Given the description of an element on the screen output the (x, y) to click on. 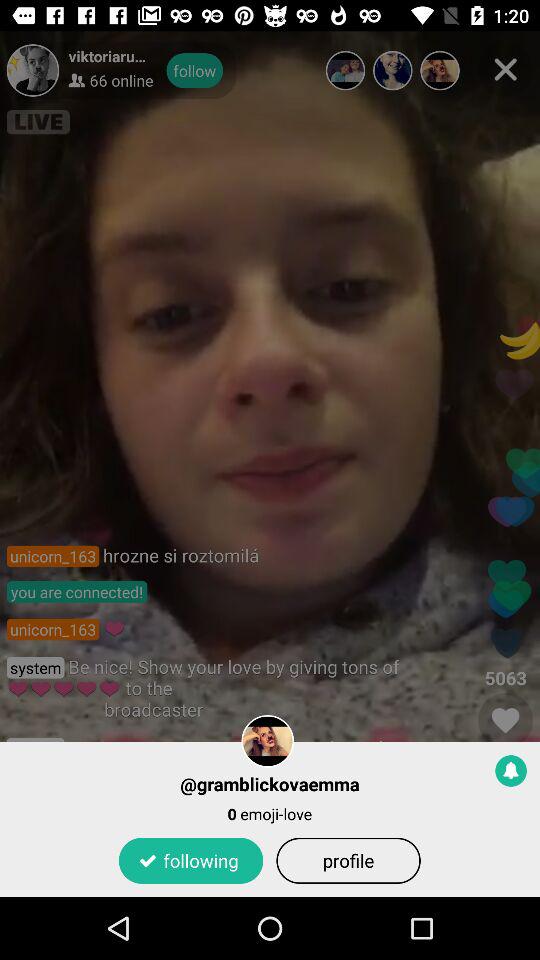
press the app to the left of the profile app (190, 860)
